Given the description of an element on the screen output the (x, y) to click on. 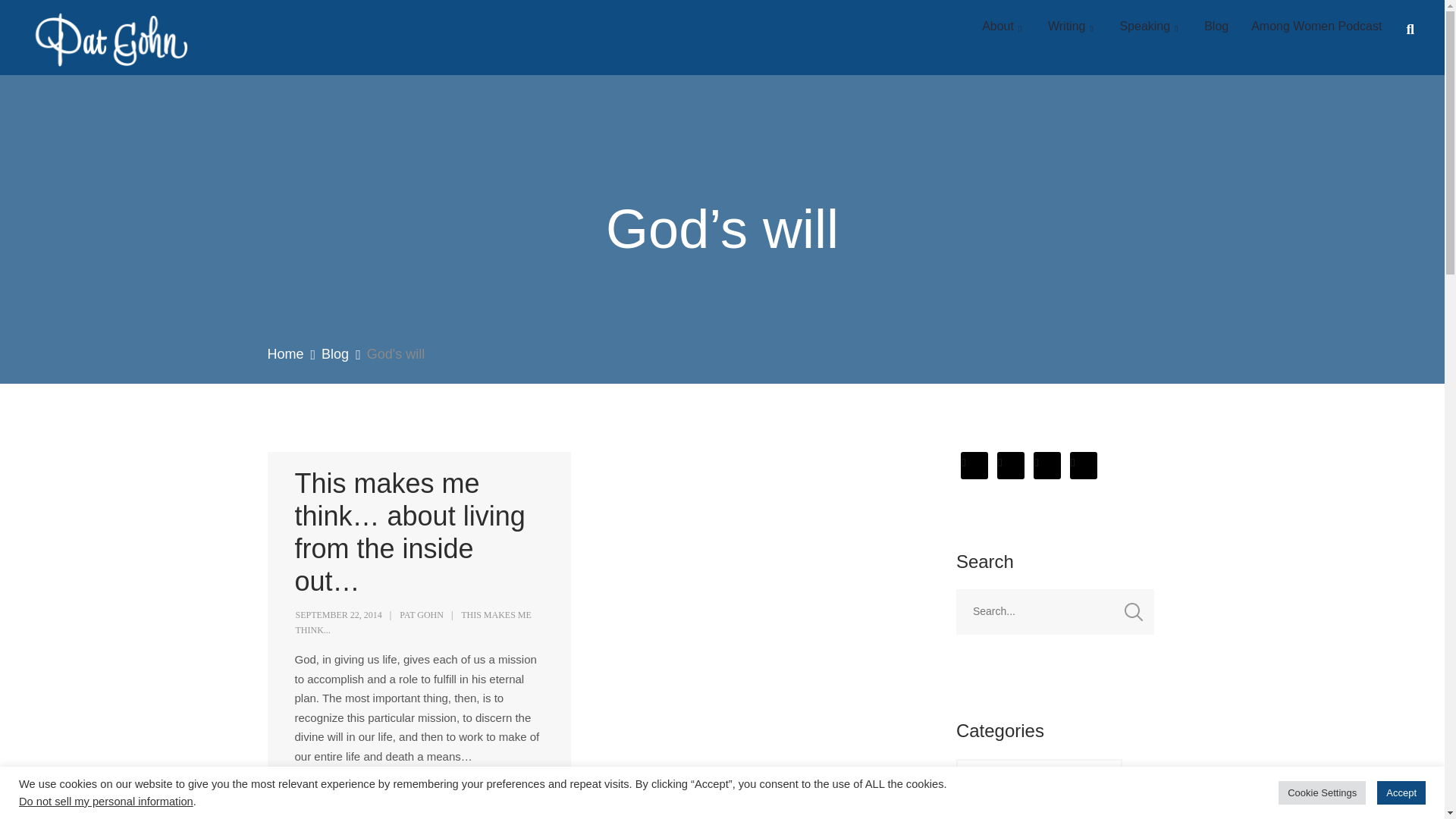
Go to Blog. (335, 354)
Pat Gohn (94, 37)
Submit (34, 23)
Speaking (1150, 26)
Writing (1072, 26)
Among Women Podcast (1316, 26)
About (1003, 26)
